Given the description of an element on the screen output the (x, y) to click on. 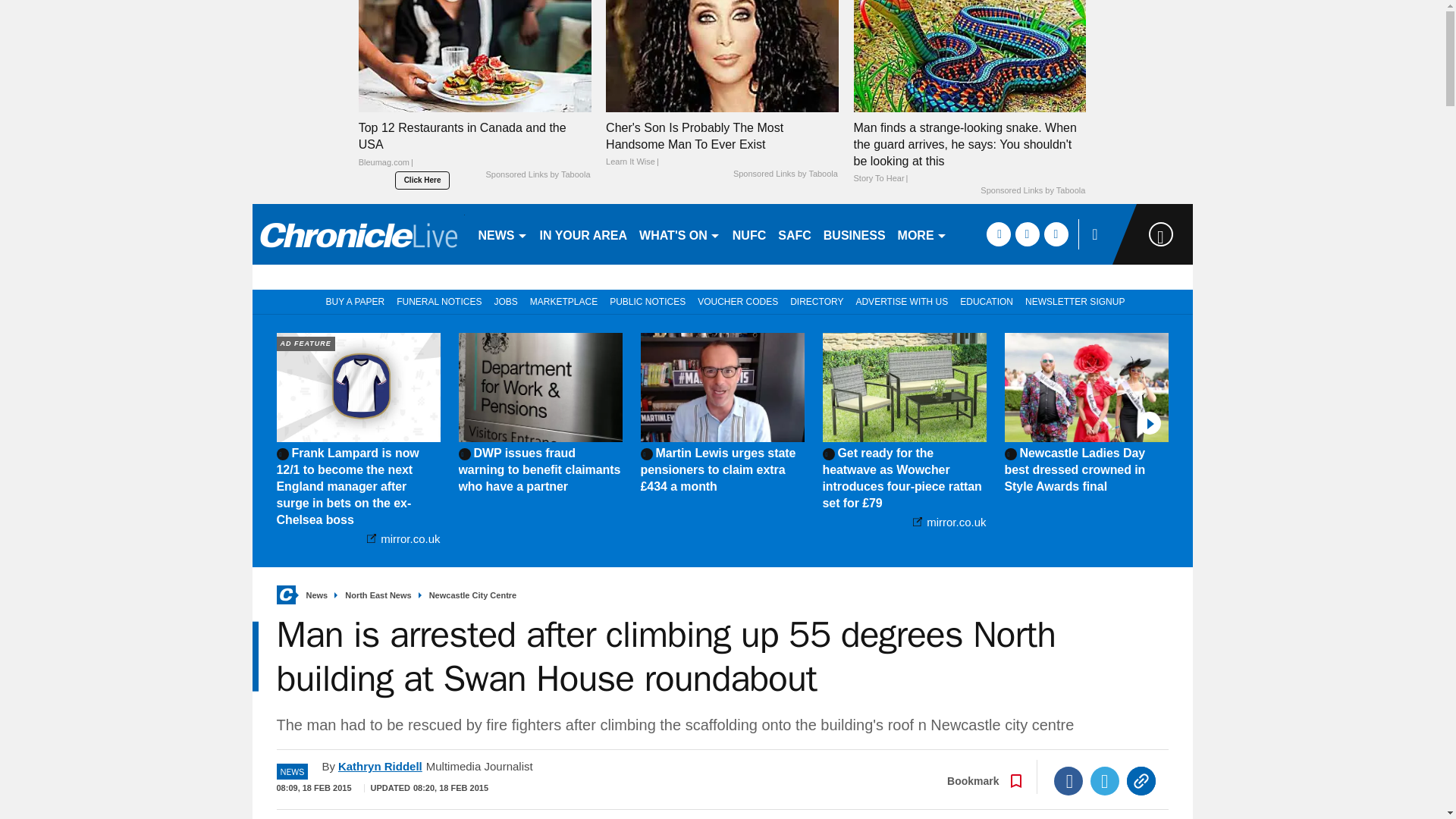
WHAT'S ON (679, 233)
Sponsored Links by Taboola (785, 174)
Top 12 Restaurants in Canada and the USA (474, 55)
Sponsored Links by Taboola (1031, 190)
facebook (997, 233)
Sponsored Links by Taboola (536, 175)
NEWS (501, 233)
Top 12 Restaurants in Canada and the USA (474, 149)
Click Here (421, 180)
IN YOUR AREA (583, 233)
Cher's Son Is Probably The Most Handsome Man To Ever Exist (721, 144)
instagram (1055, 233)
nechronicle (357, 233)
